Given the description of an element on the screen output the (x, y) to click on. 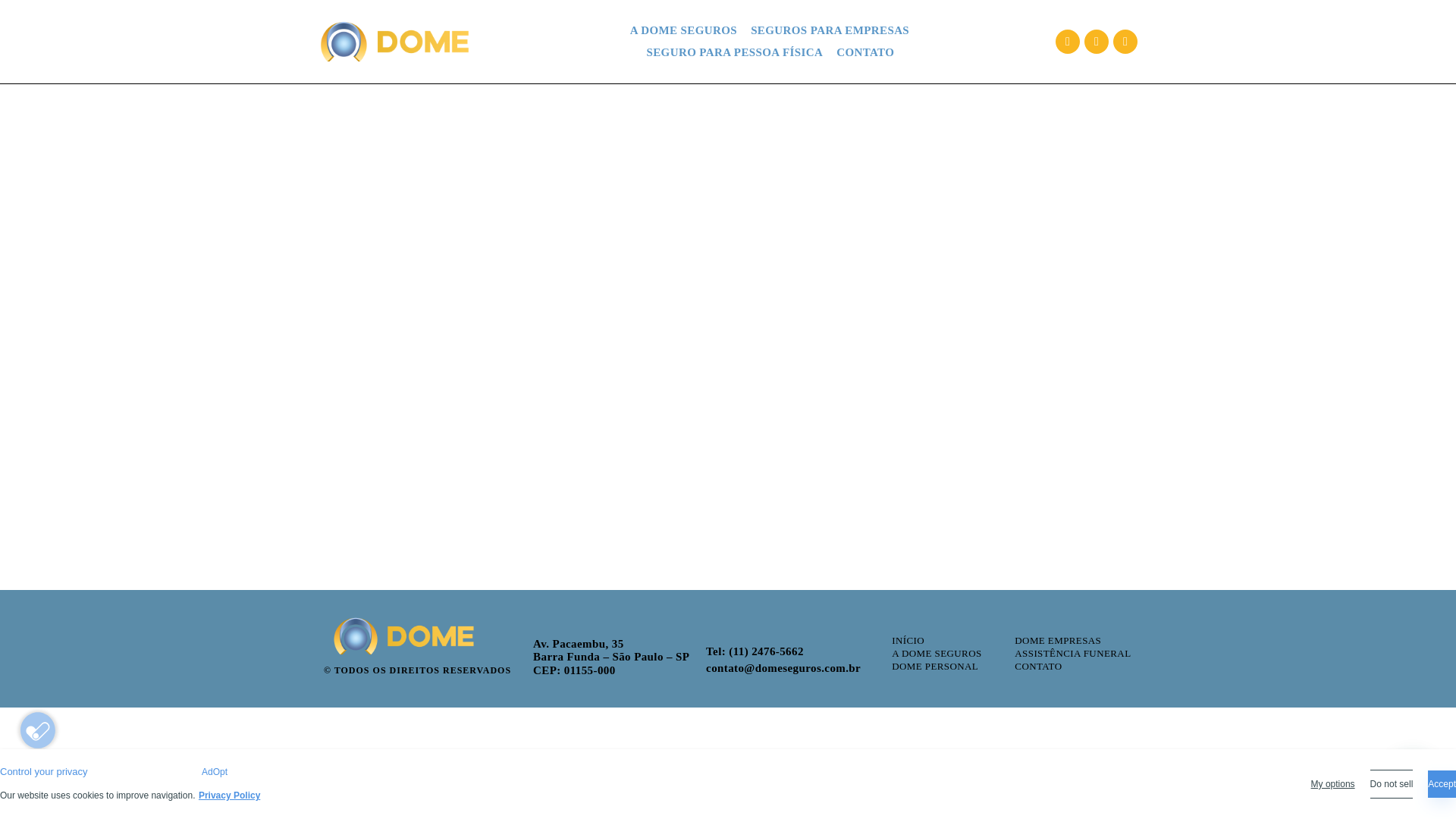
SEGUROS PARA EMPRESAS (829, 30)
CONTATO (864, 52)
A DOME SEGUROS (683, 30)
